Given the description of an element on the screen output the (x, y) to click on. 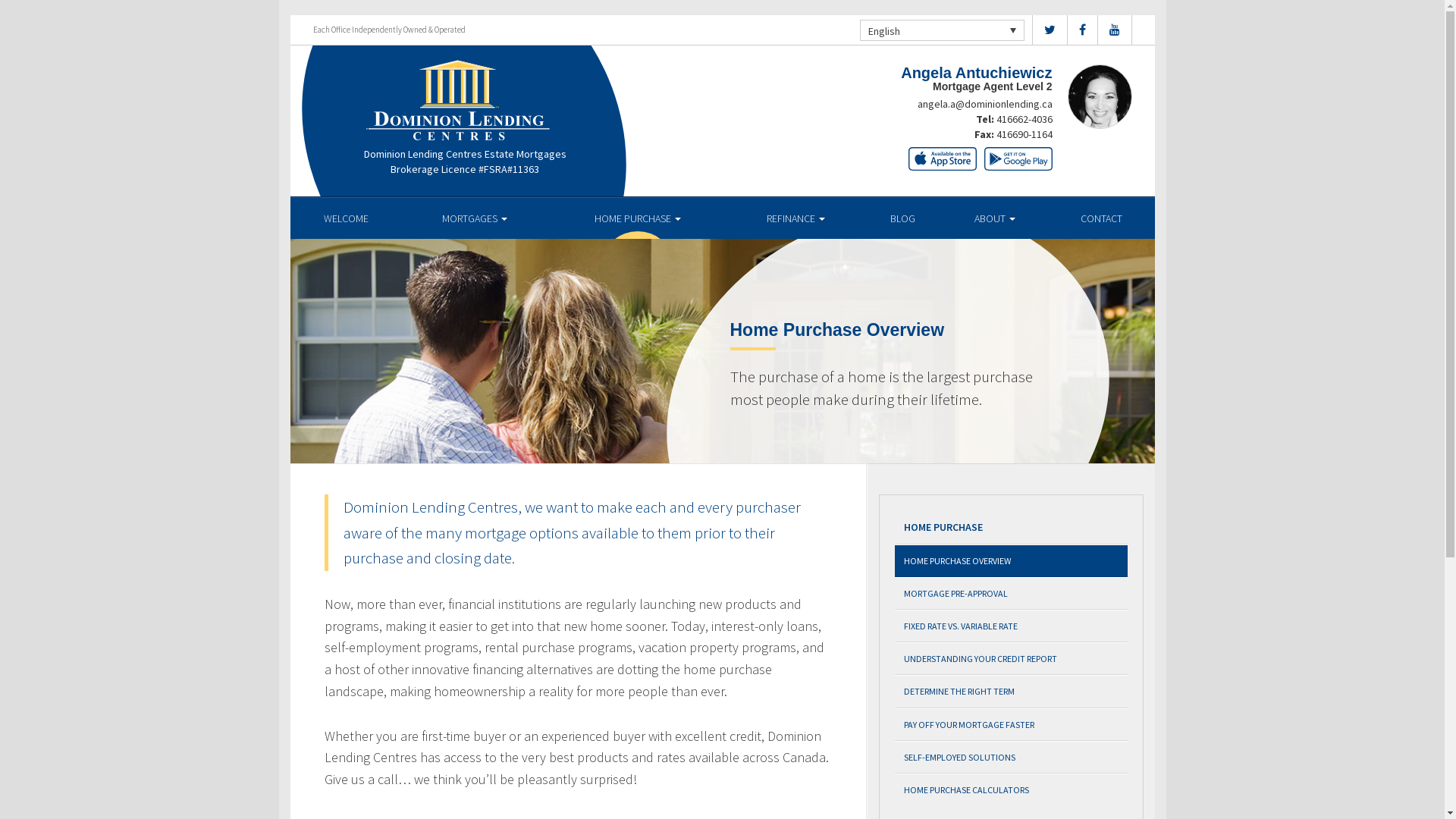
MORTGAGE PRE-APPROVAL Element type: text (1010, 593)
WELCOME Element type: text (345, 217)
SELF-EMPLOYED SOLUTIONS Element type: text (1010, 756)
416662-4036 Element type: text (1024, 118)
PAY OFF YOUR MORTGAGE FASTER Element type: text (1010, 724)
HOME PURCHASE Element type: text (637, 217)
CONTACT Element type: text (1101, 217)
416690-1164 Element type: text (1024, 134)
HOME PURCHASE Element type: text (1010, 527)
REFINANCE Element type: text (795, 217)
FIXED RATE VS. VARIABLE RATE Element type: text (1010, 625)
angela.a@dominionlending.ca Element type: text (984, 103)
DETERMINE THE RIGHT TERM Element type: text (1010, 690)
HOME PURCHASE CALCULATORS Element type: text (1010, 789)
MORTGAGES Element type: text (474, 217)
UNDERSTANDING YOUR CREDIT REPORT Element type: text (1010, 658)
English Element type: text (941, 29)
BLOG Element type: text (901, 217)
ABOUT Element type: text (994, 217)
HOME PURCHASE OVERVIEW Element type: text (1010, 560)
